Given the description of an element on the screen output the (x, y) to click on. 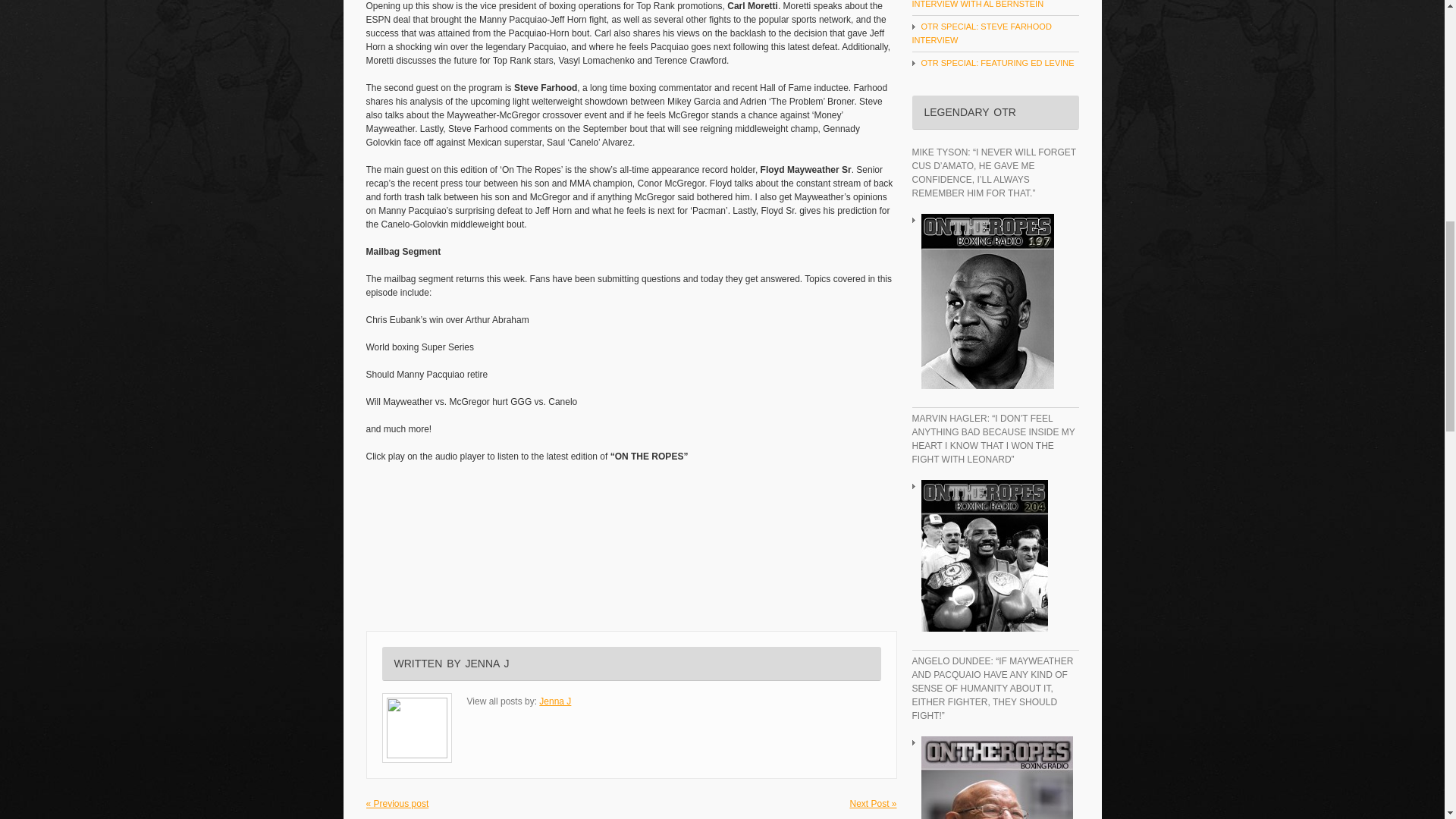
Posts by Jenna J (554, 701)
Posts by Jenna J (486, 663)
JENNA J (486, 663)
Jenna J (554, 701)
